Given the description of an element on the screen output the (x, y) to click on. 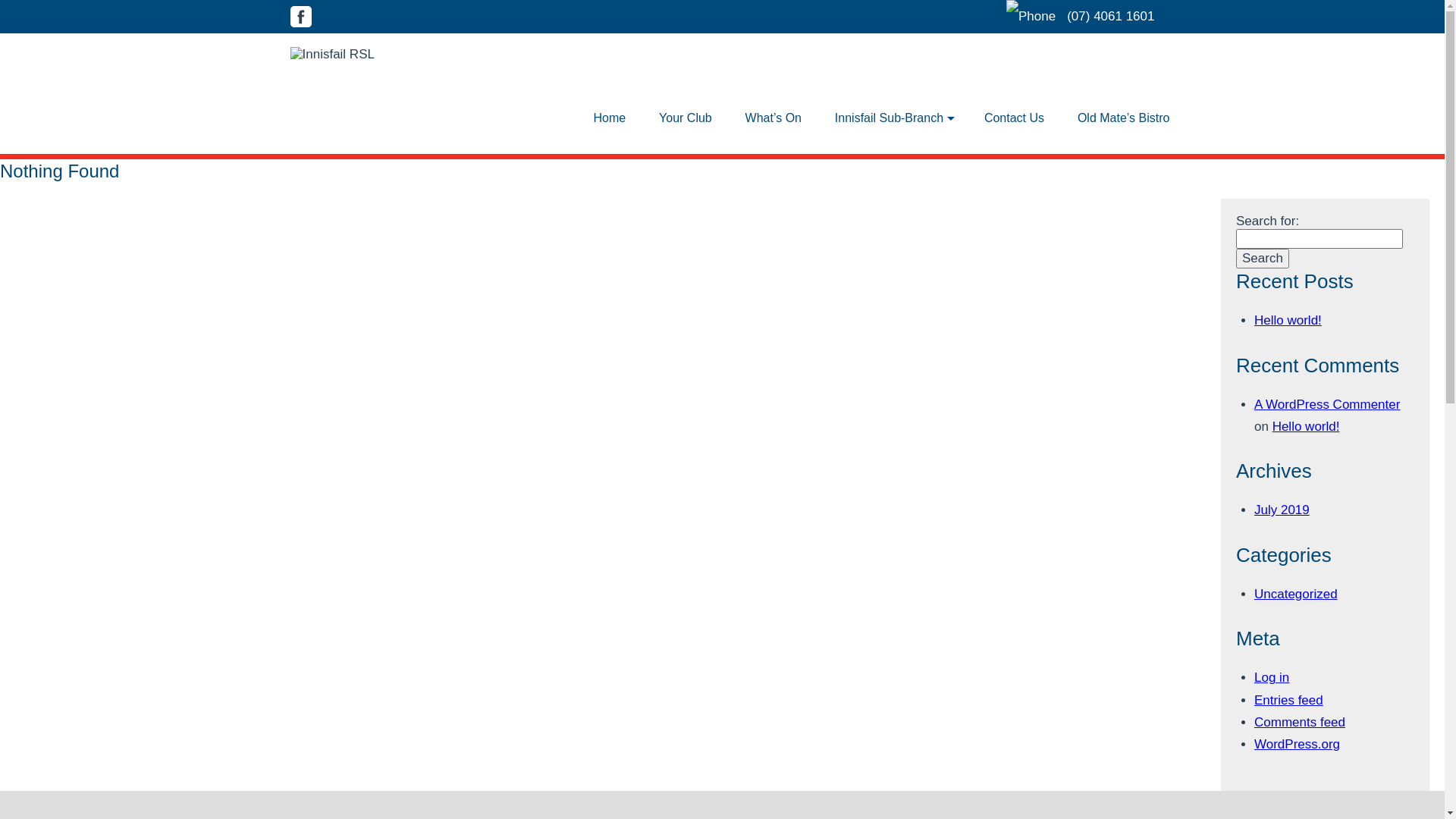
A WordPress Commenter Element type: text (1326, 404)
July 2019 Element type: text (1281, 509)
Innisfail Sub-Branch Element type: text (888, 118)
Uncategorized Element type: text (1295, 593)
Hello world! Element type: text (1305, 426)
Search Element type: text (1262, 258)
Log in Element type: text (1271, 677)
Comments feed Element type: text (1299, 722)
Contact Us Element type: text (1014, 118)
Your Club Element type: text (685, 118)
Home Element type: text (609, 118)
Entries feed Element type: text (1288, 700)
WordPress.org Element type: text (1296, 744)
Hello world! Element type: text (1287, 320)
